Given the description of an element on the screen output the (x, y) to click on. 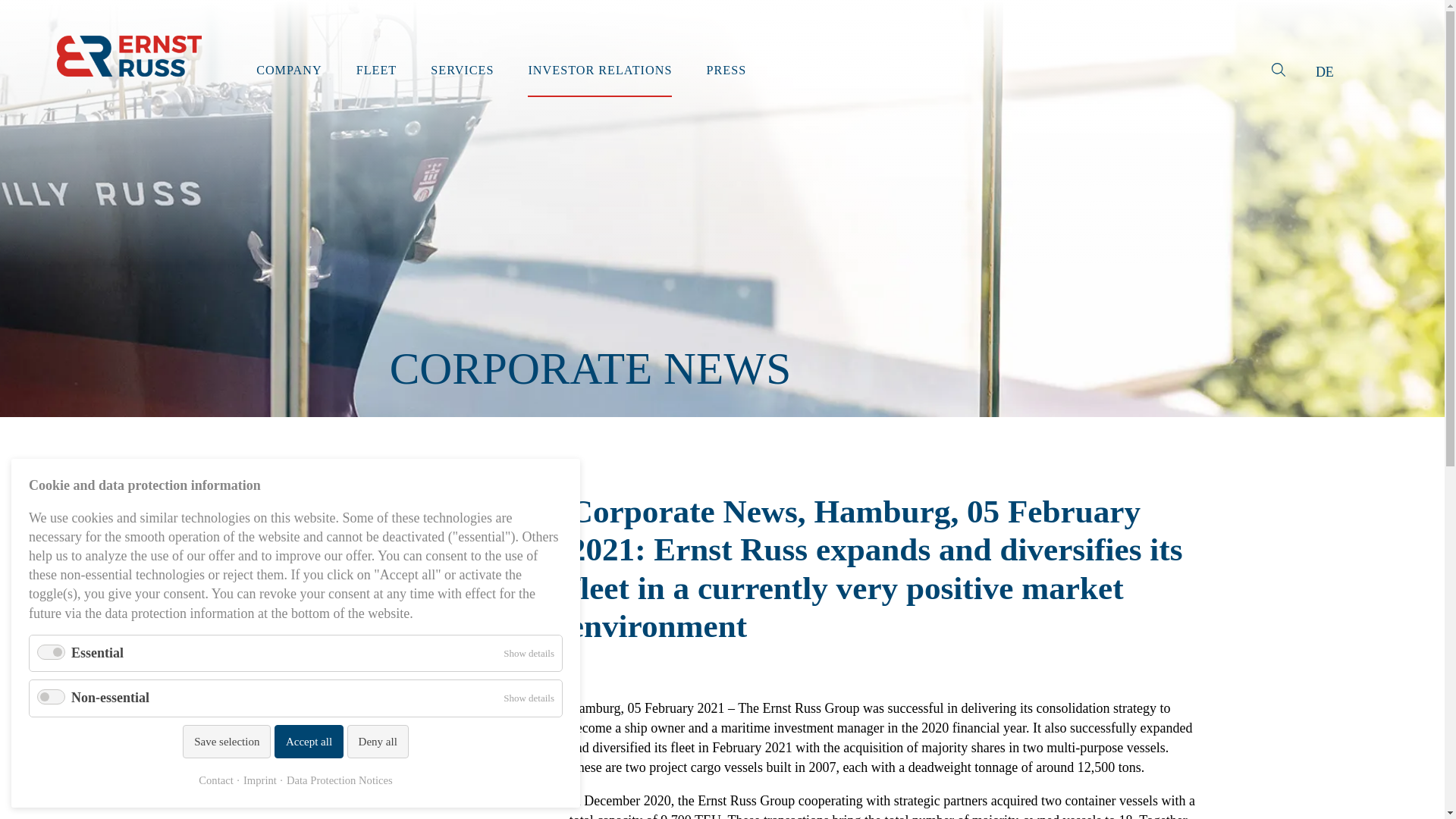
DE (1324, 71)
INVESTOR RELATIONS (599, 70)
Company (288, 70)
PRESS (725, 70)
SERVICES (461, 70)
FLEET (376, 70)
COMPANY (288, 70)
Fleet (376, 70)
Services (461, 70)
Investor Relations (599, 70)
